Given the description of an element on the screen output the (x, y) to click on. 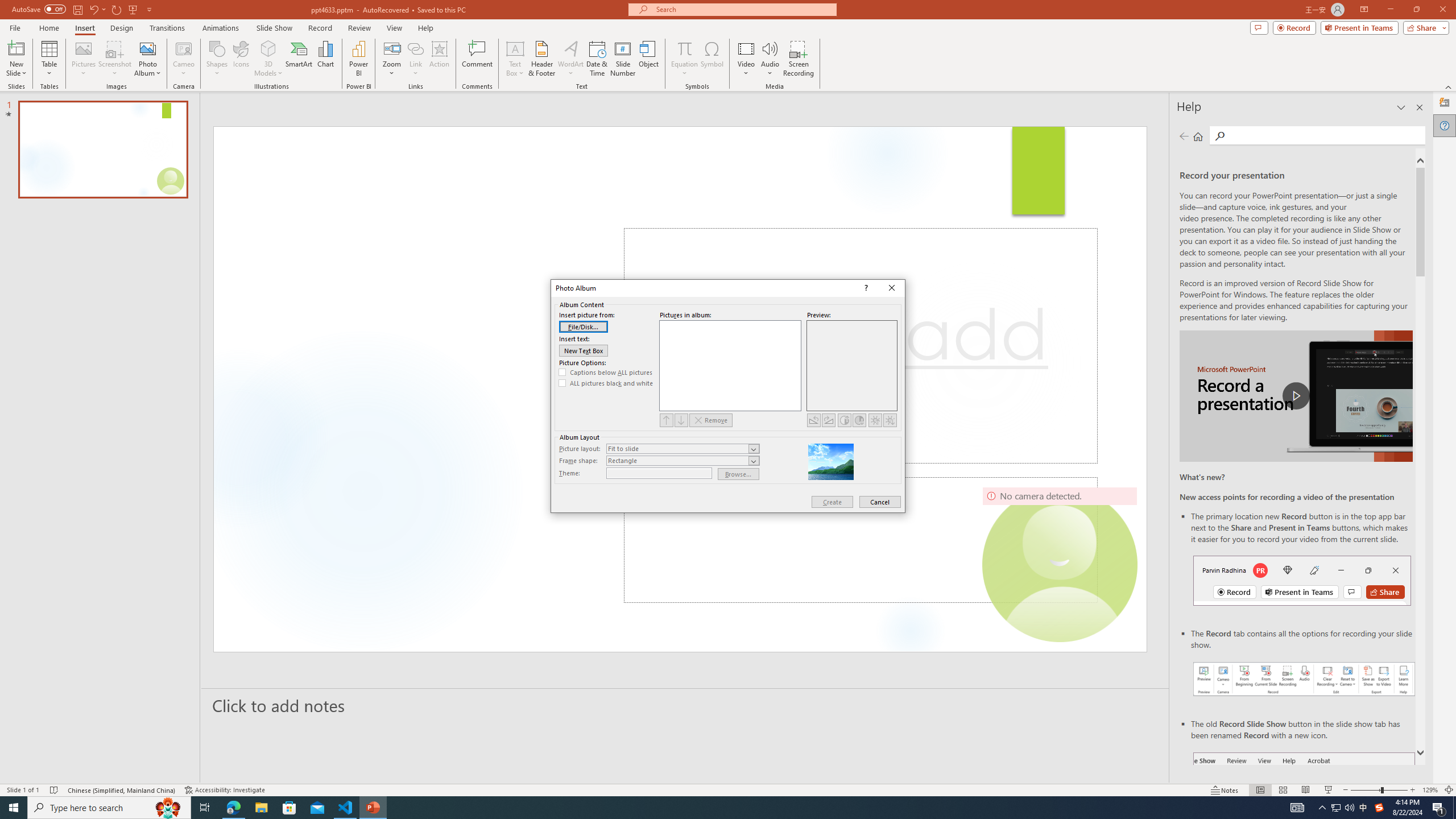
Date & Time... (596, 58)
Context help (865, 288)
New Text Box (583, 350)
